Given the description of an element on the screen output the (x, y) to click on. 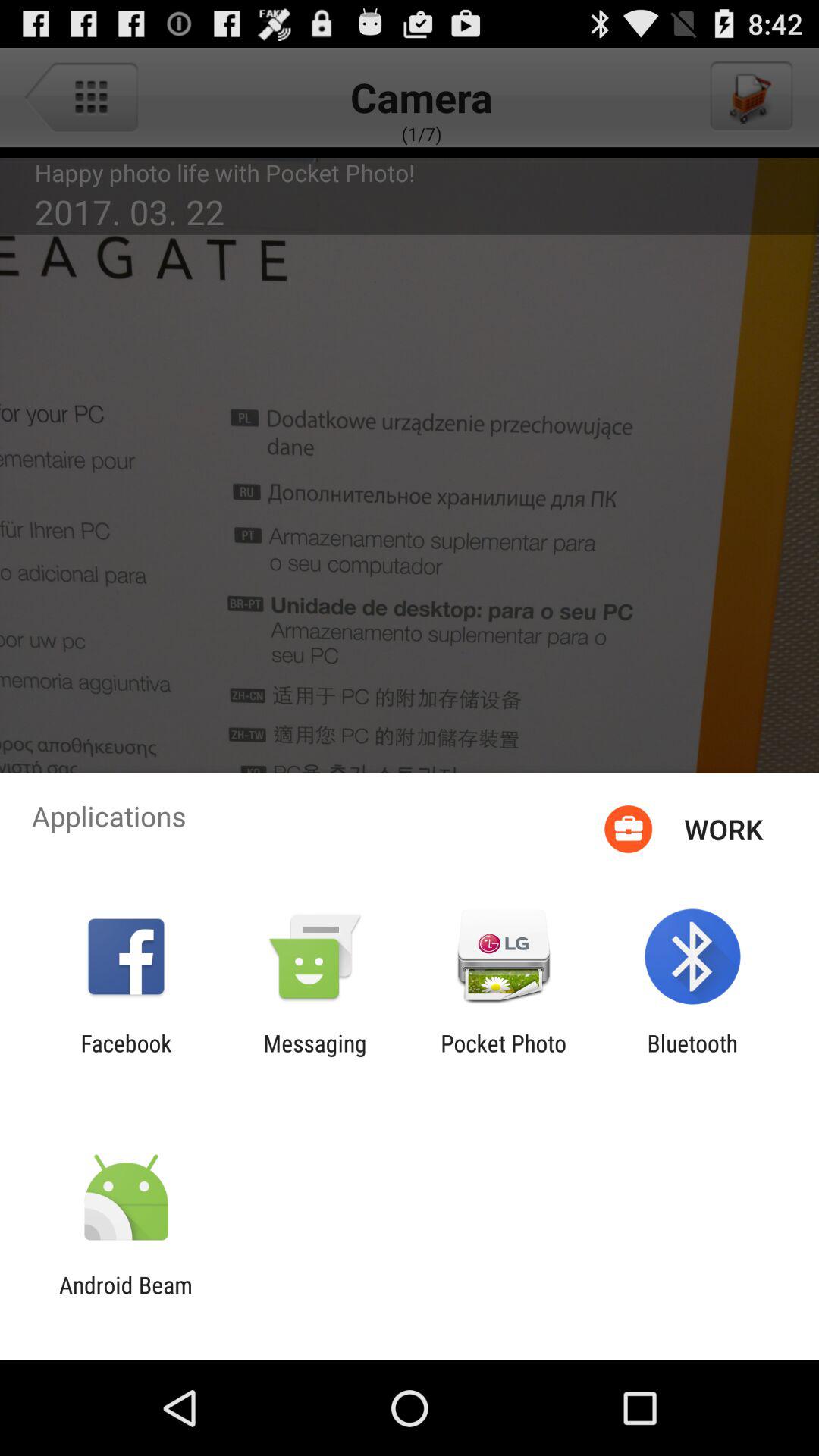
open the android beam app (125, 1298)
